Given the description of an element on the screen output the (x, y) to click on. 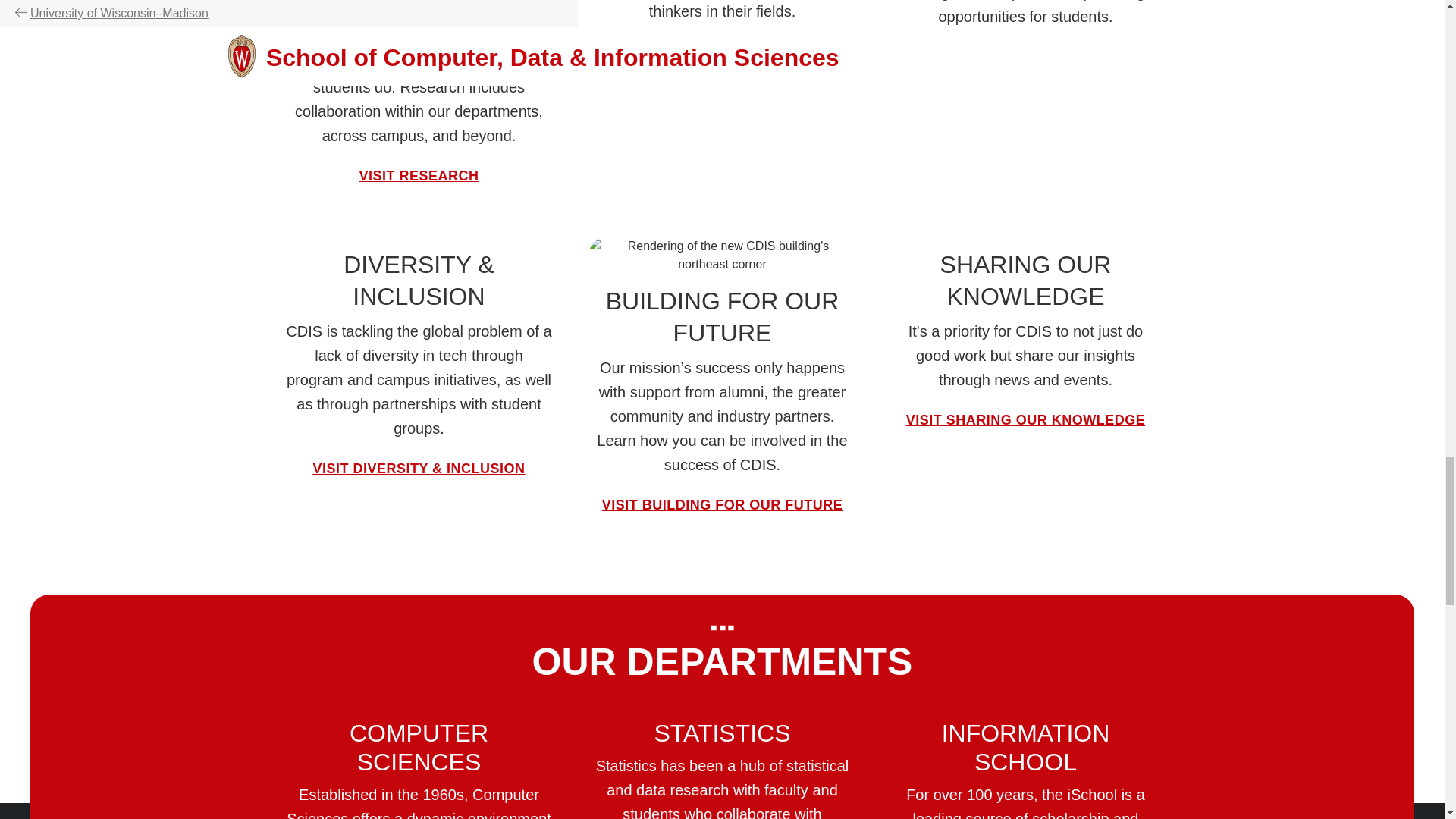
VISIT BUILDING FOR OUR FUTURE (722, 505)
VISIT SHARING OUR KNOWLEDGE (1025, 420)
VISIT RESEARCH (418, 176)
VISIT ACADEMIC PROGRAMS (722, 51)
